Given the description of an element on the screen output the (x, y) to click on. 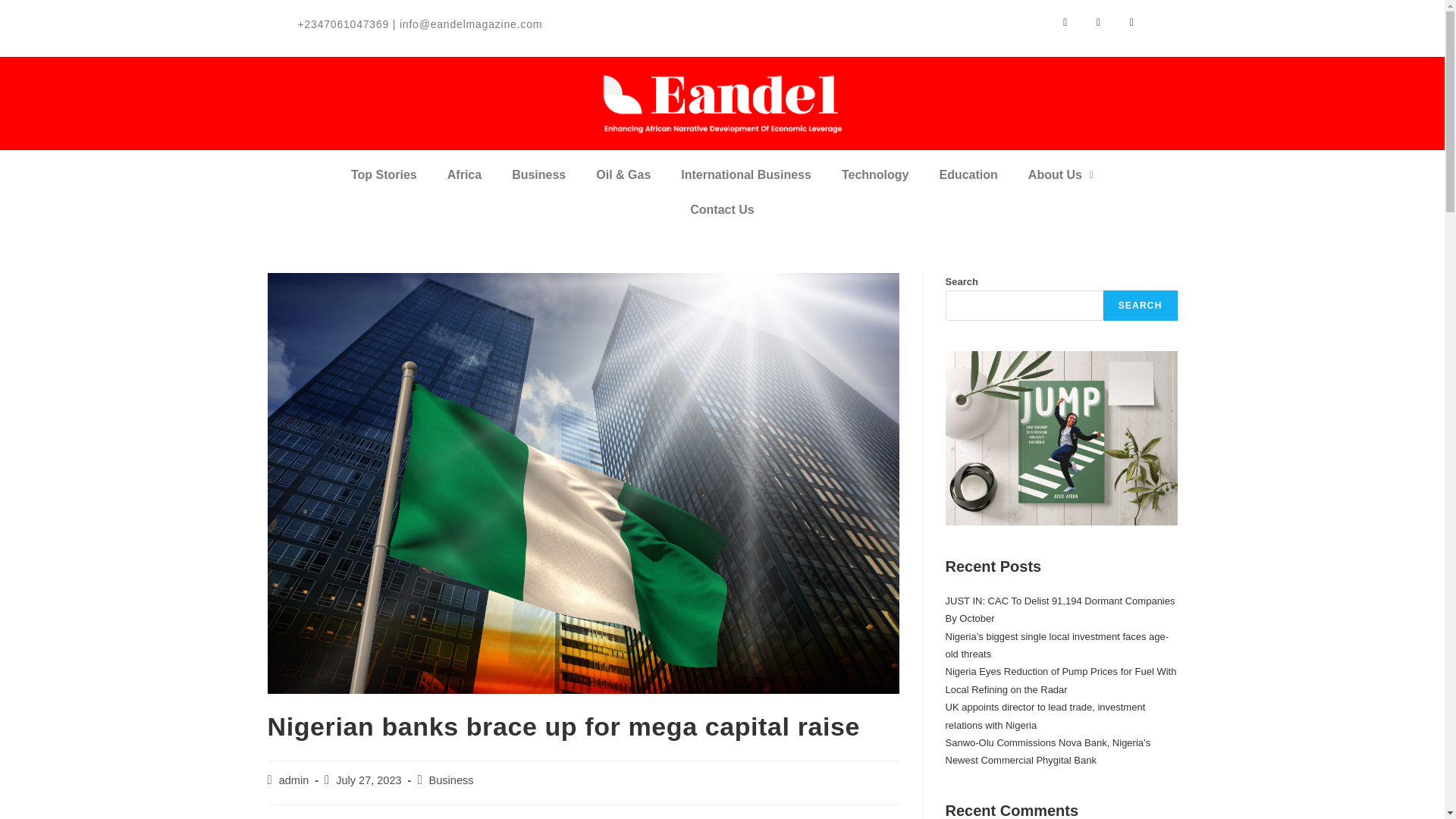
Business (538, 175)
SEARCH (1140, 305)
Contact Us (721, 209)
Africa (464, 175)
International Business (746, 175)
Page 7 (505, 24)
Business (451, 779)
Posts by admin (293, 779)
JUST IN: CAC To Delist 91,194 Dormant Companies By October (1059, 609)
Top Stories (384, 175)
About Us (1060, 175)
Education (967, 175)
Technology (875, 175)
